Given the description of an element on the screen output the (x, y) to click on. 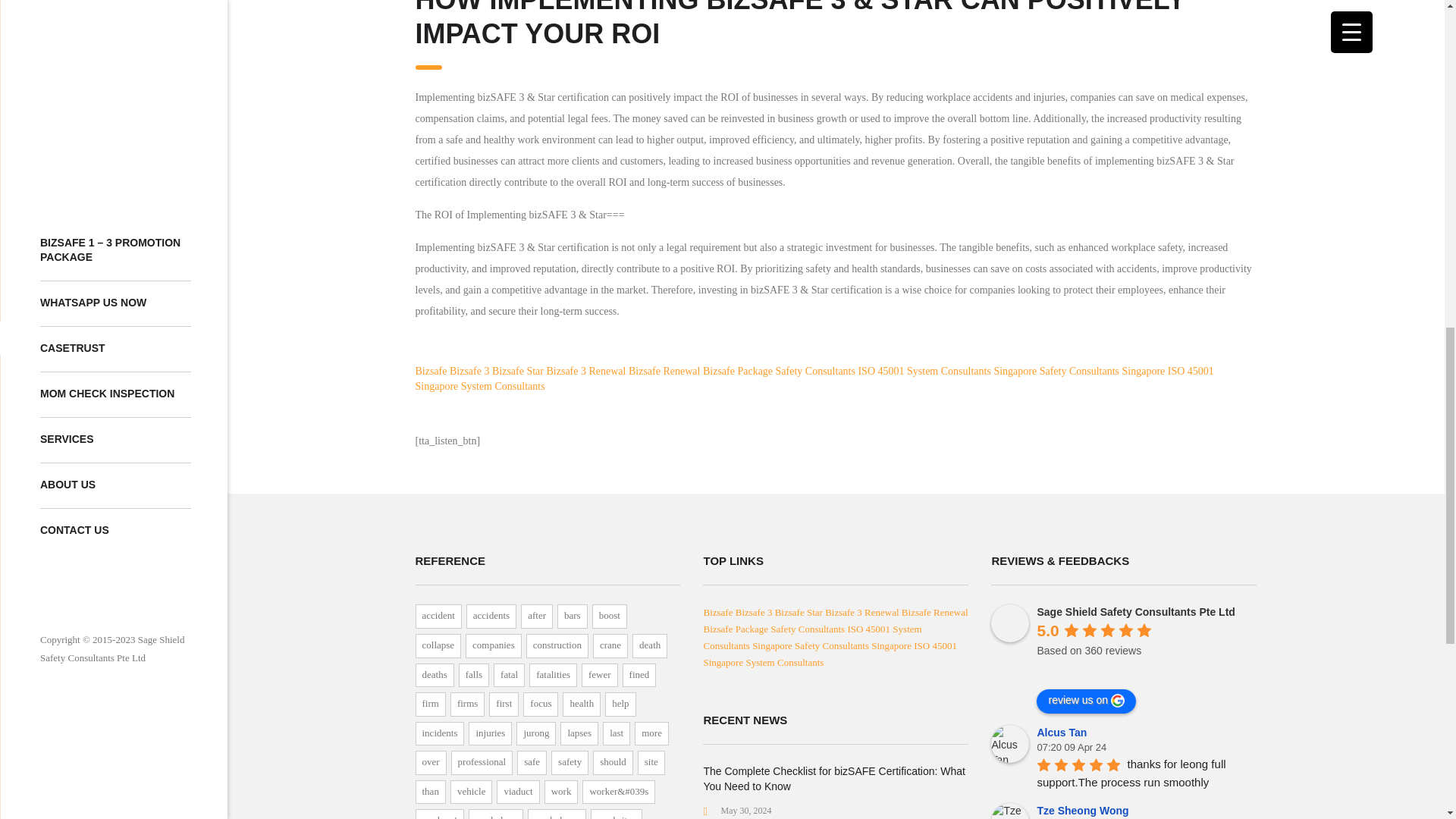
accidents (490, 616)
ISO 45001 (880, 370)
Tze Sheong Wong (1010, 811)
Bizsafe Renewal (664, 370)
Bizsafe Package (738, 370)
Safety Consultants (816, 370)
Singapore ISO 45001 (1168, 370)
Bizsafe (430, 370)
Singapore Safety Consultants (1055, 370)
Singapore System Consultants (479, 386)
